Given the description of an element on the screen output the (x, y) to click on. 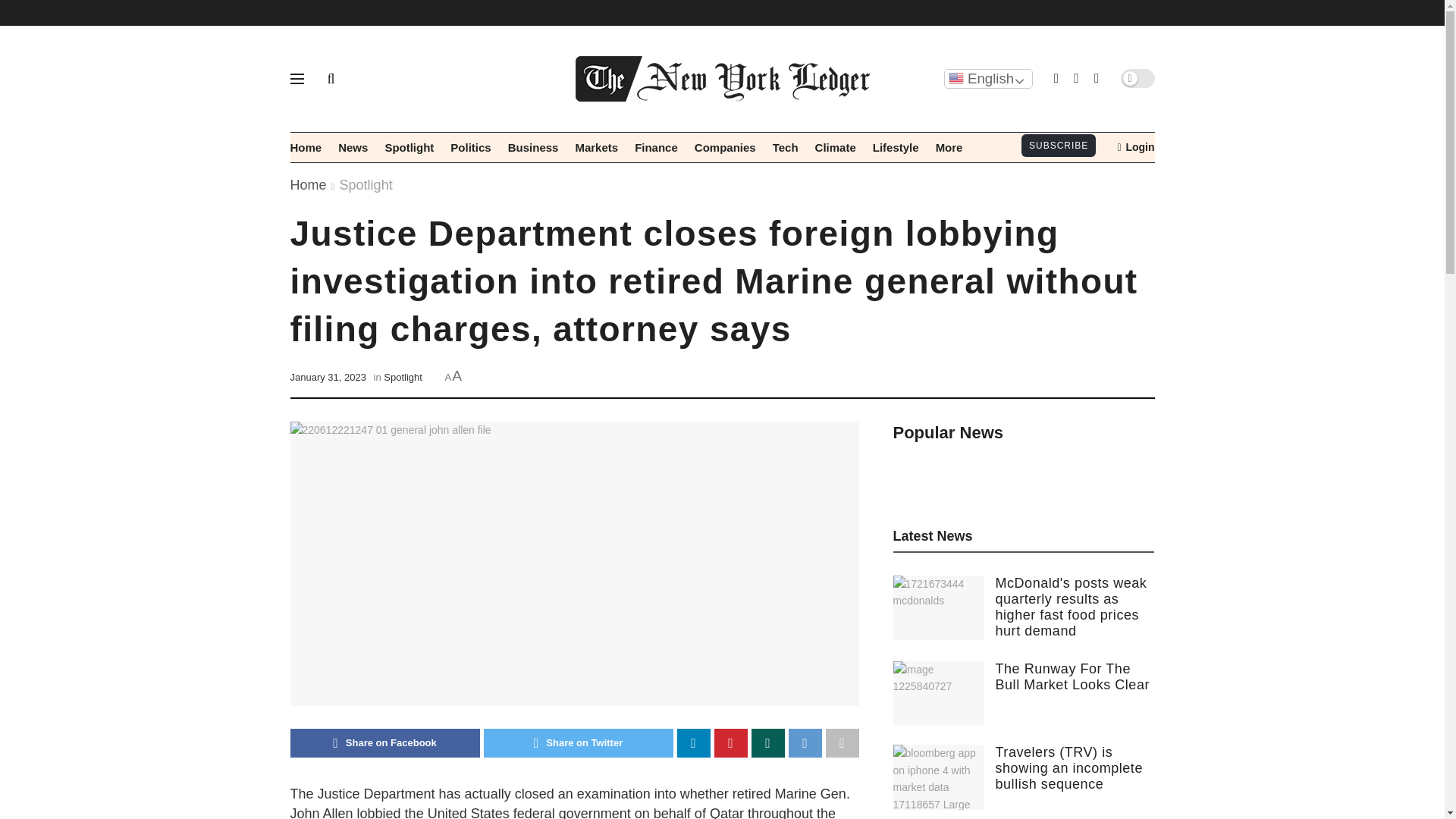
News (352, 147)
Home (305, 147)
English (987, 78)
